Given the description of an element on the screen output the (x, y) to click on. 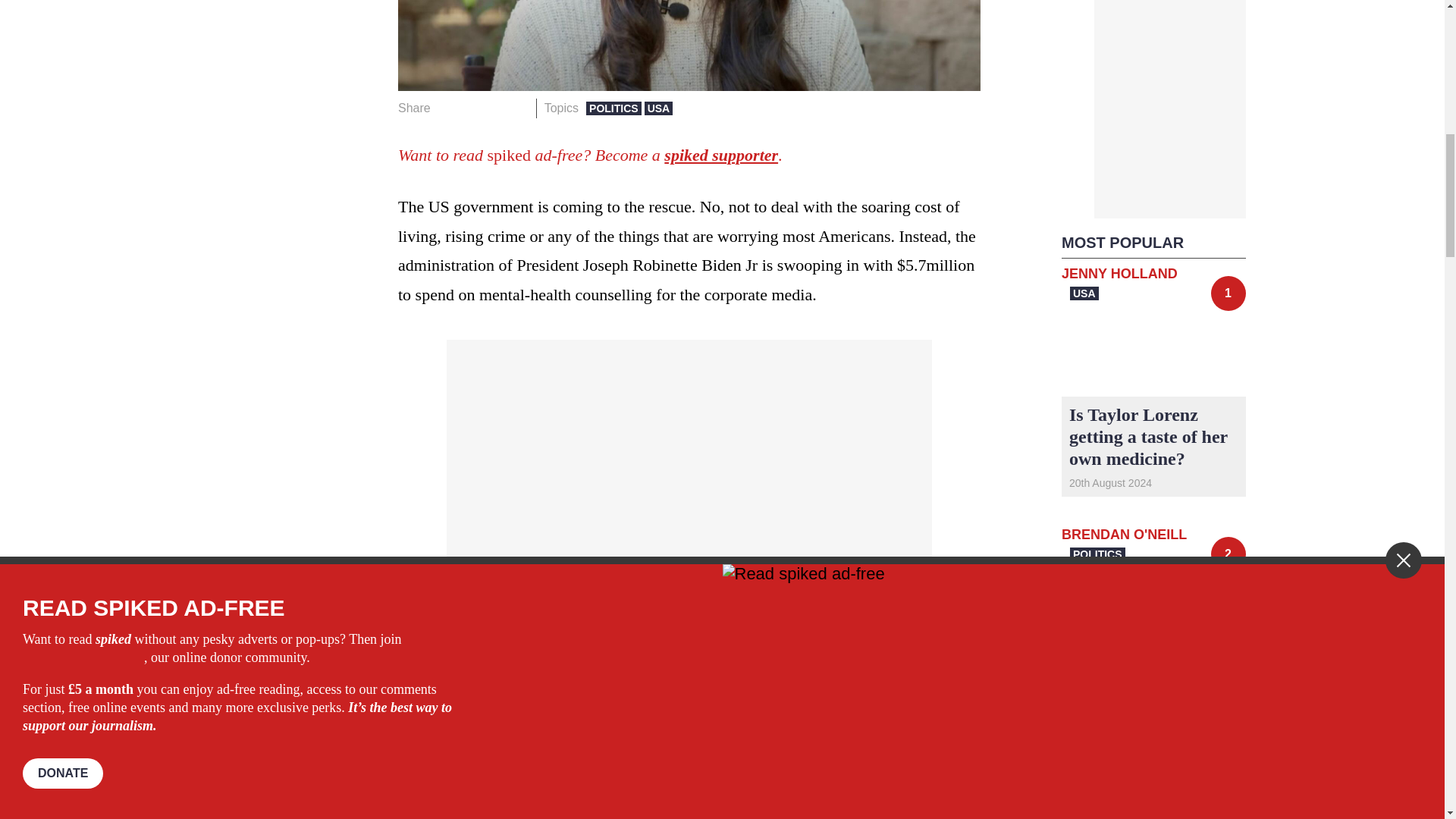
Share on Whatsapp (494, 107)
Share on Twitter (471, 107)
Share on Email (518, 107)
Share on Facebook (448, 107)
